Given the description of an element on the screen output the (x, y) to click on. 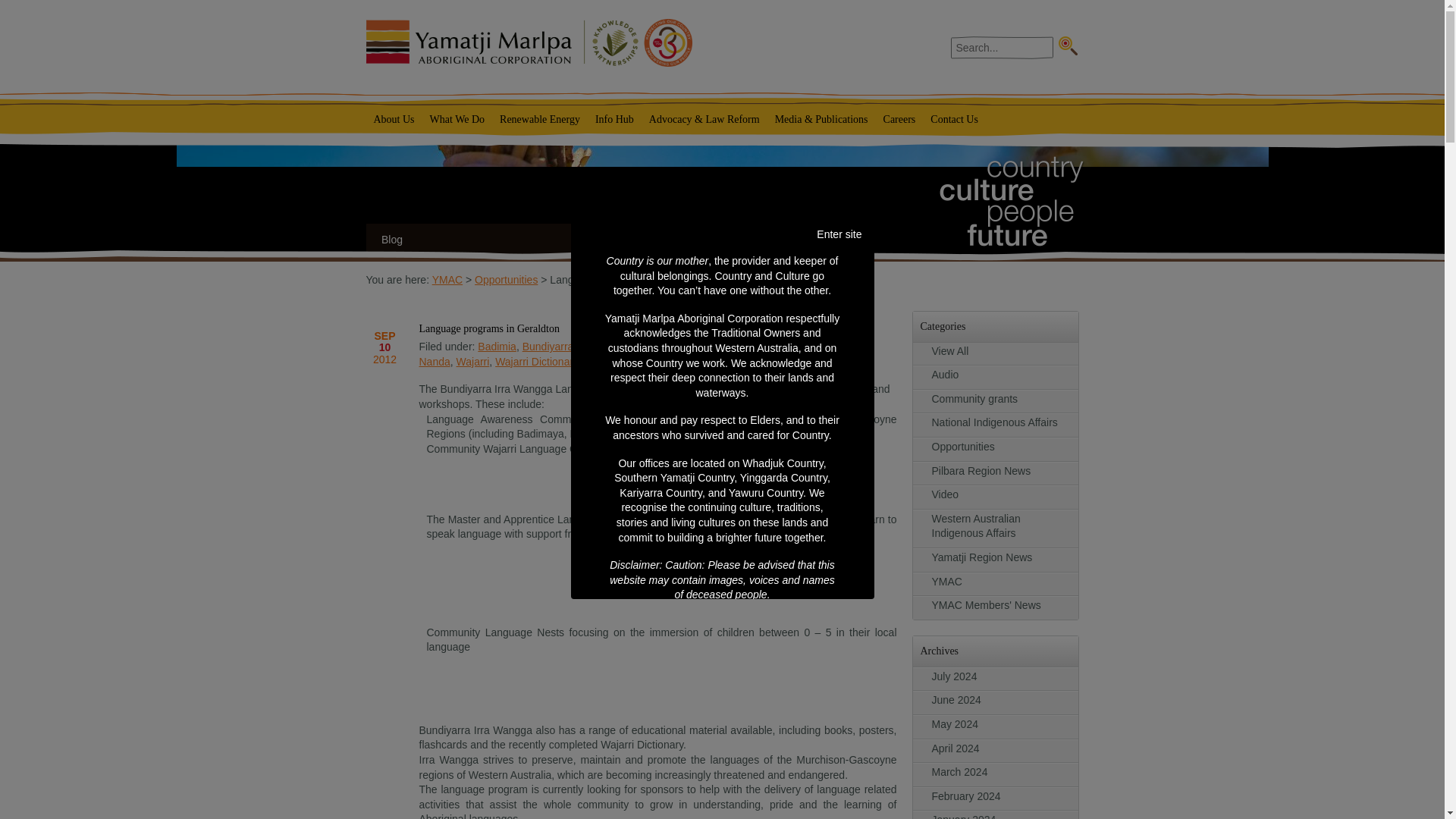
Go to the Opportunities category archives. (505, 279)
What We Do (457, 119)
Go to YMAC. (447, 279)
Info Hub (615, 119)
Search (1068, 46)
YMAC (528, 42)
About Us (393, 119)
Renewable Energy (540, 119)
Search (1068, 46)
